Given the description of an element on the screen output the (x, y) to click on. 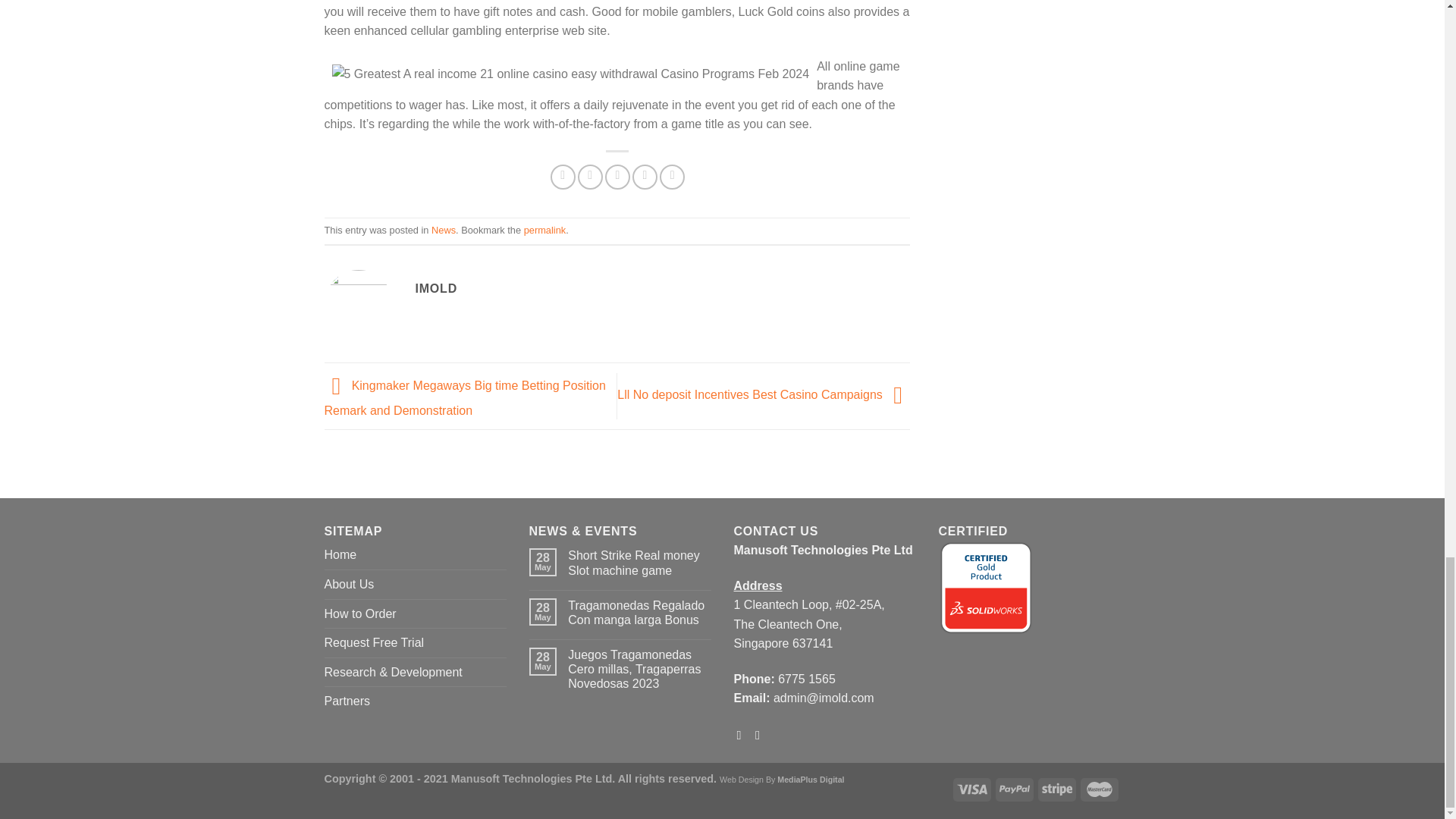
Email to a Friend (617, 176)
Share on LinkedIn (671, 176)
Share on Facebook (562, 176)
Pin on Pinterest (644, 176)
Share on Twitter (590, 176)
